Given the description of an element on the screen output the (x, y) to click on. 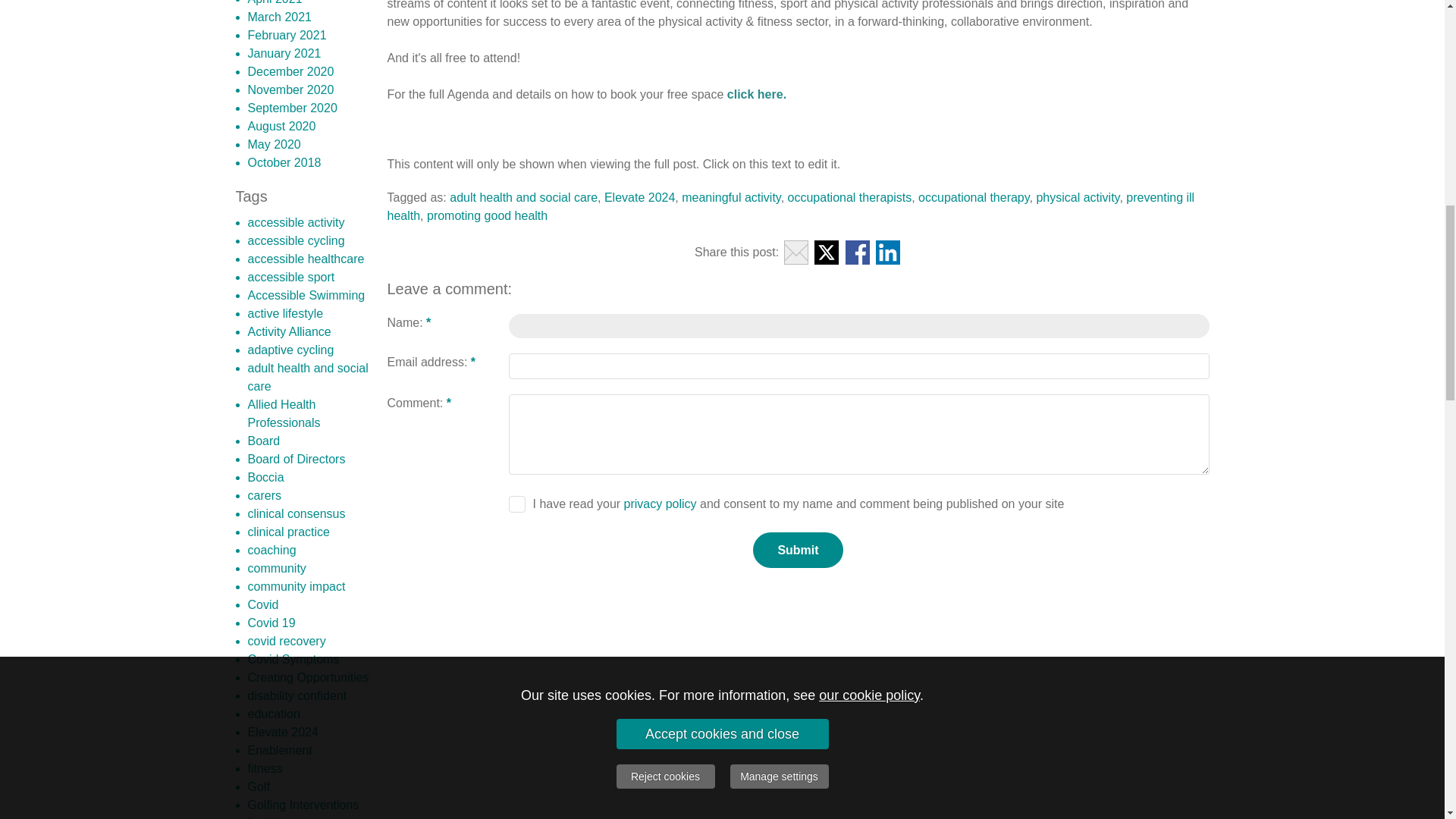
promoting good health (486, 215)
occupational therapy (973, 196)
meaningful activity (730, 196)
Elevate 2024 (639, 196)
preventing ill health (790, 205)
occupational therapists (849, 196)
physical activity (1077, 196)
adult health and social care (522, 196)
click here. (756, 93)
